Given the description of an element on the screen output the (x, y) to click on. 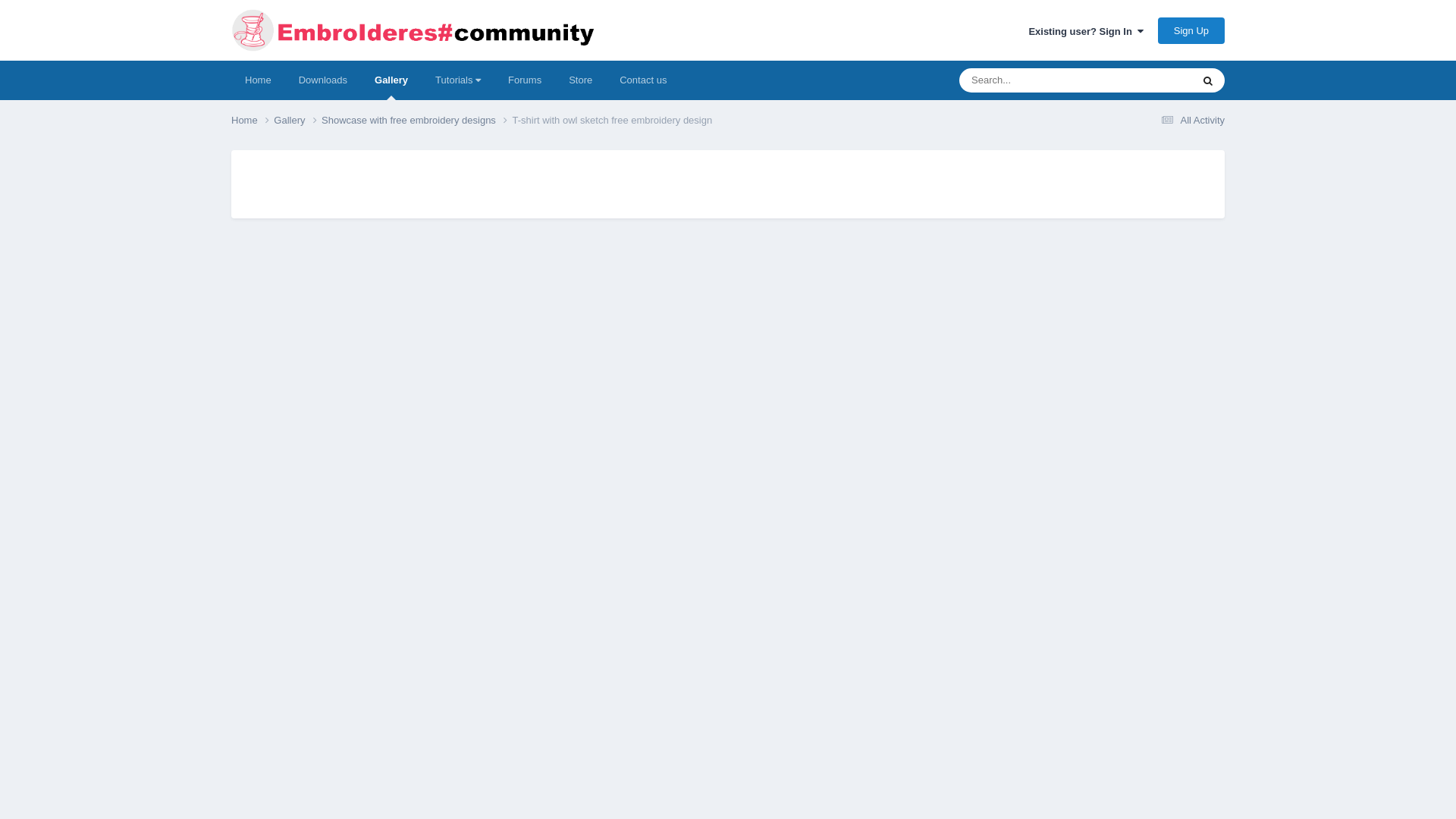
Forums (524, 79)
Gallery (391, 79)
Contact us (642, 79)
Existing user? Sign In   (1084, 30)
Gallery (297, 120)
Home (258, 79)
All Activity (1190, 120)
Tutorials (458, 79)
Home (252, 120)
Home (252, 120)
